Given the description of an element on the screen output the (x, y) to click on. 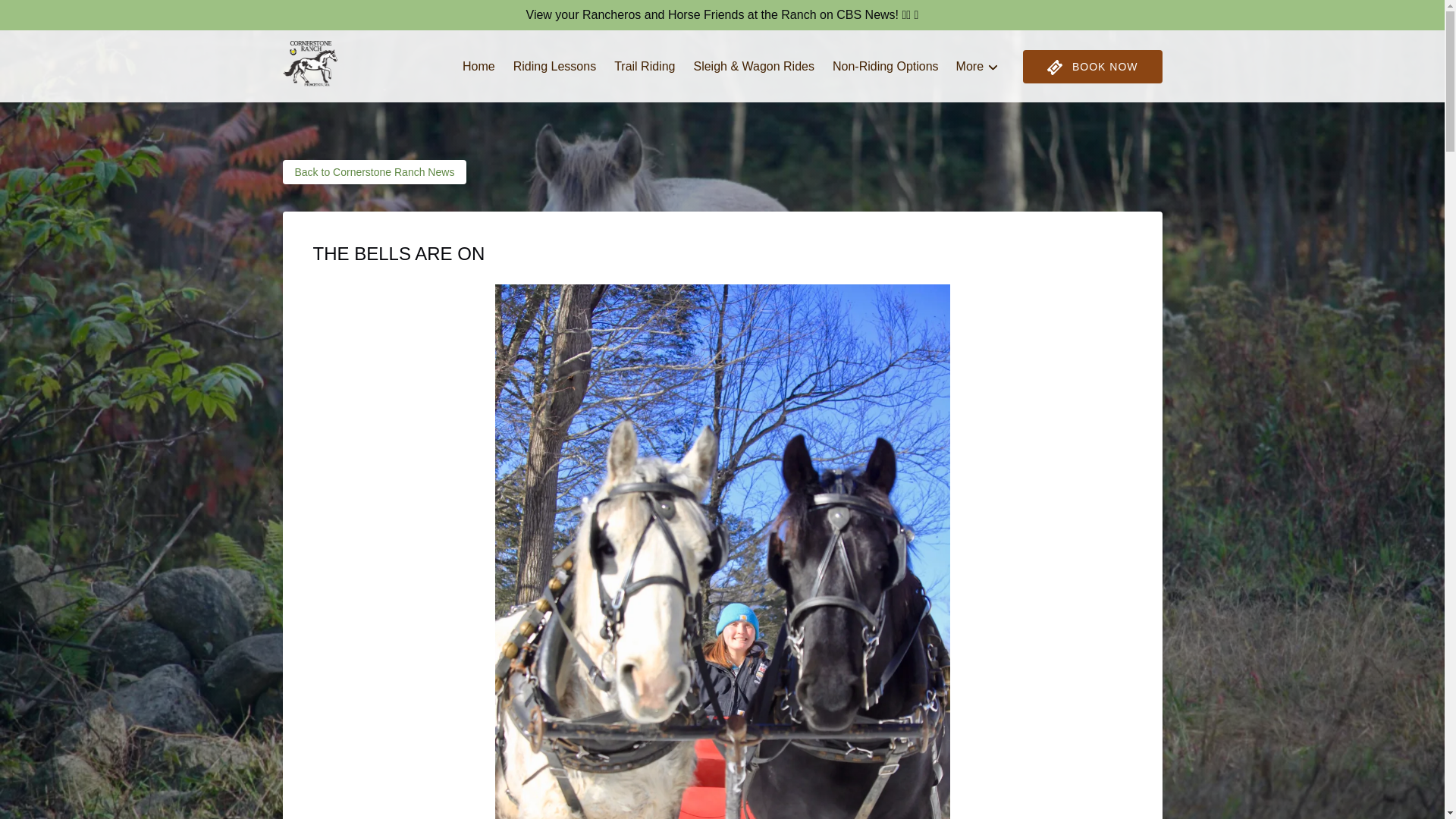
More (977, 66)
Riding Lessons (554, 66)
Non-Riding Options (885, 66)
Trail Riding (644, 66)
TICKET (1054, 67)
Skip to primary navigation (77, 16)
Skip to footer (42, 16)
Open More Menu (981, 62)
Back to Cornerstone Ranch News (373, 171)
Skip to content (47, 16)
Home (477, 66)
TICKET BOOK NOW (1092, 66)
